Given the description of an element on the screen output the (x, y) to click on. 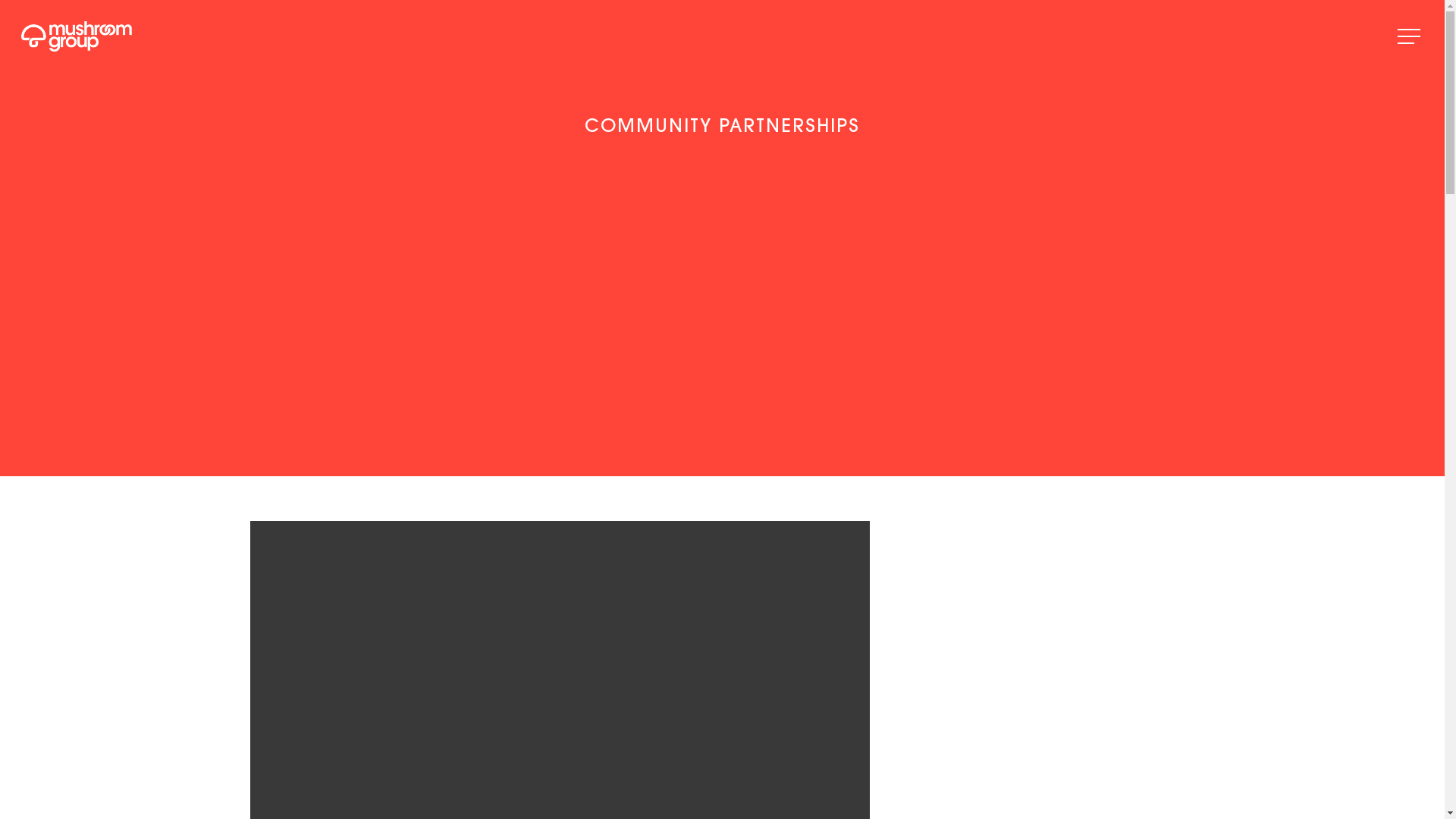
twitter Element type: text (1067, 793)
youtube Element type: text (1127, 793)
Privacy Policy Element type: text (408, 795)
Menu Element type: text (1410, 36)
tiktok Element type: text (1186, 793)
facebook Element type: text (1041, 793)
instagram Element type: text (1157, 793)
linkedin Element type: text (1097, 793)
